Given the description of an element on the screen output the (x, y) to click on. 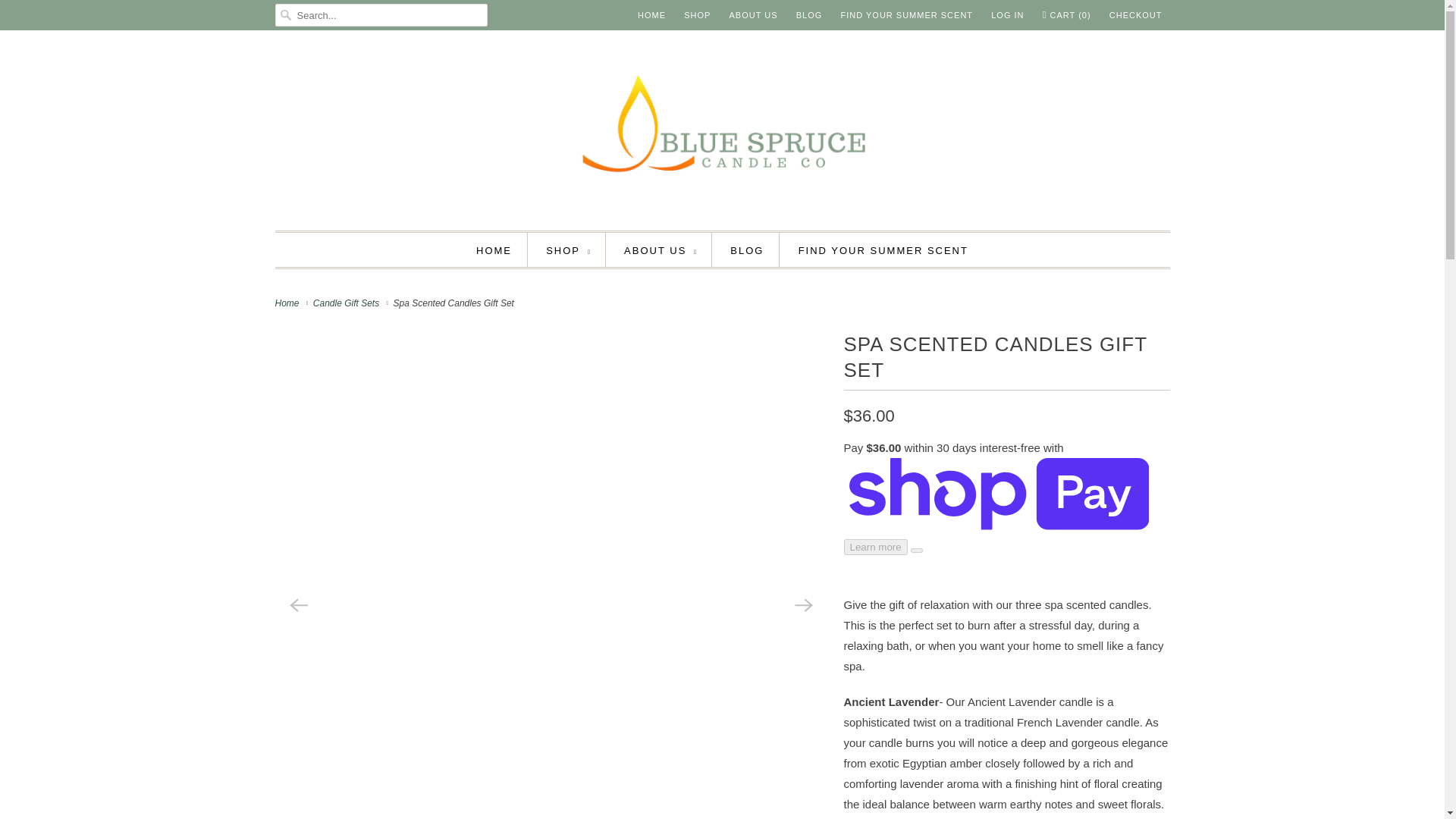
HOME (651, 15)
HOME (494, 250)
Bluesprucecandles (288, 303)
BLOG (809, 15)
SHOP (567, 250)
ABOUT US (659, 250)
CHECKOUT (1135, 15)
LOG IN (1007, 15)
FIND YOUR SUMMER SCENT (906, 15)
